Given the description of an element on the screen output the (x, y) to click on. 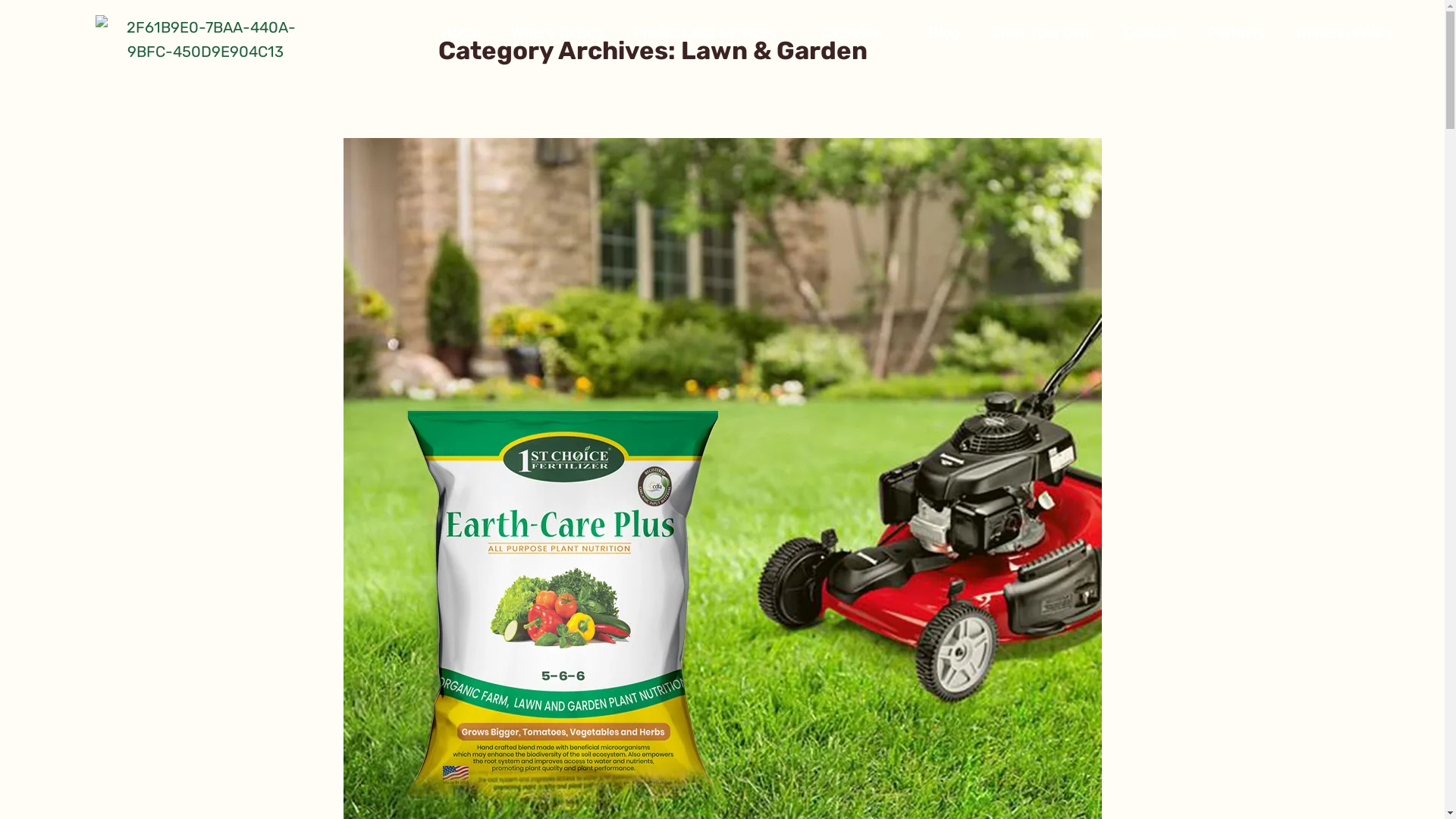
Overview Element type: text (859, 32)
Where To Buy Element type: text (556, 32)
General Policy Element type: text (1344, 32)
Home Element type: text (460, 32)
2F61B9E0-7BAA-440A-9BFC-450D9E904C13 Element type: hover (204, 39)
Partners Element type: text (1236, 32)
Blog Element type: text (943, 32)
Grow Your Own Element type: text (1041, 32)
Contact Element type: text (1150, 32)
Product and Services Element type: text (712, 32)
